Given the description of an element on the screen output the (x, y) to click on. 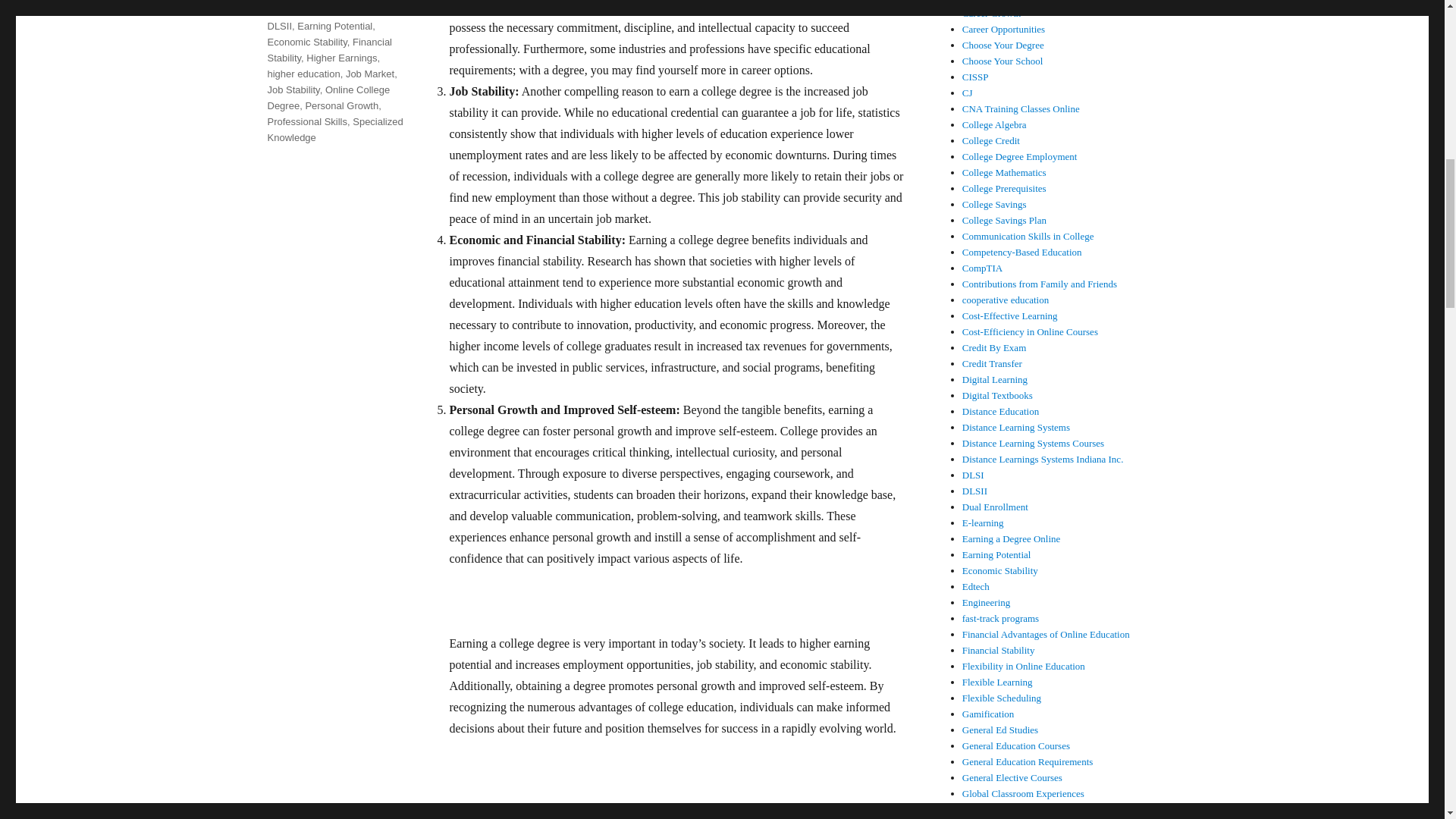
Earning Potential (334, 25)
Distance Learning Systems (333, 7)
DLSI (363, 9)
DLSII (279, 25)
Economic Stability (306, 41)
